Given the description of an element on the screen output the (x, y) to click on. 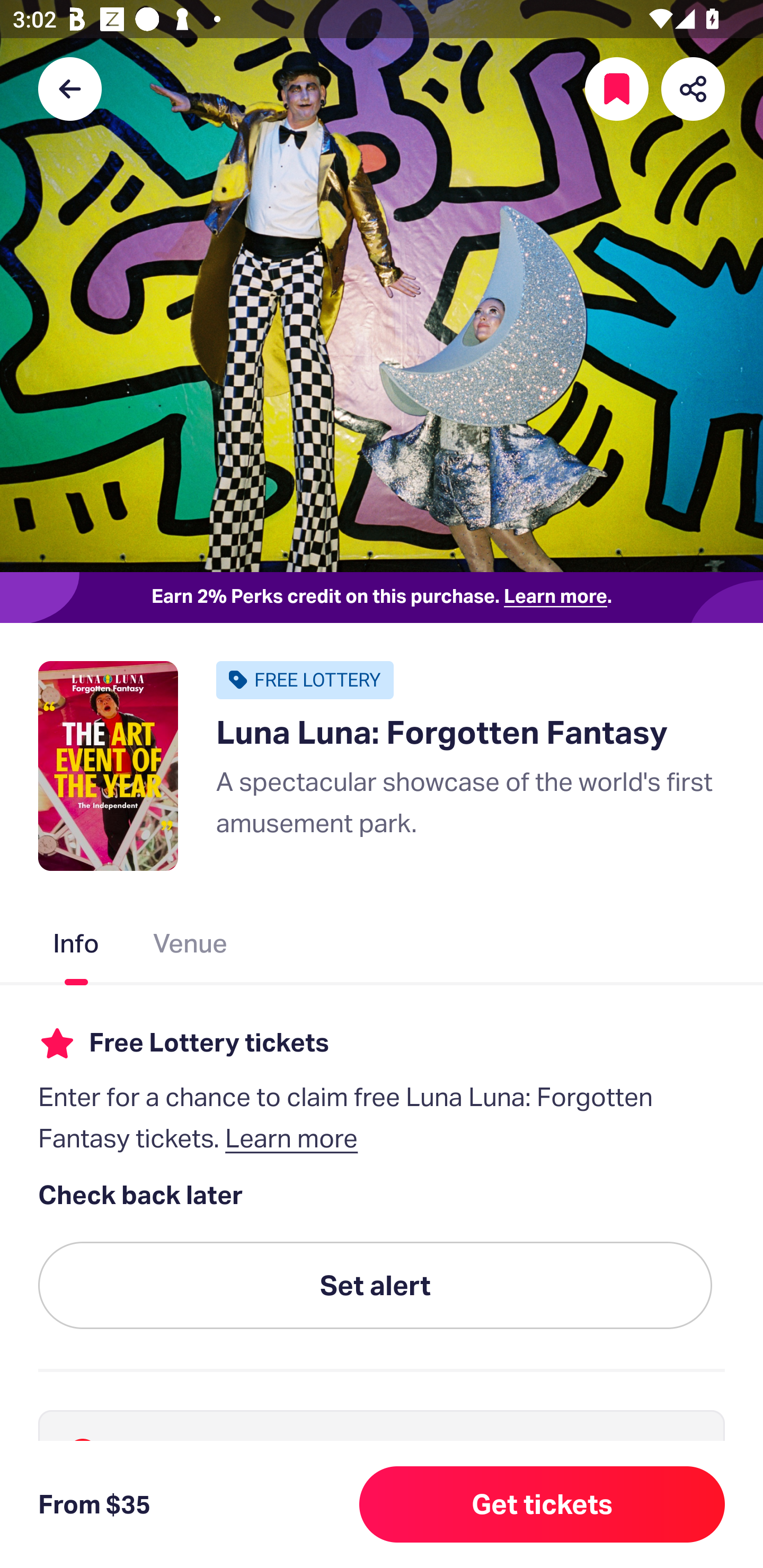
Earn 2% Perks credit on this purchase. Learn more. (381, 597)
Venue (190, 946)
Set alert (374, 1286)
Get tickets (541, 1504)
